Given the description of an element on the screen output the (x, y) to click on. 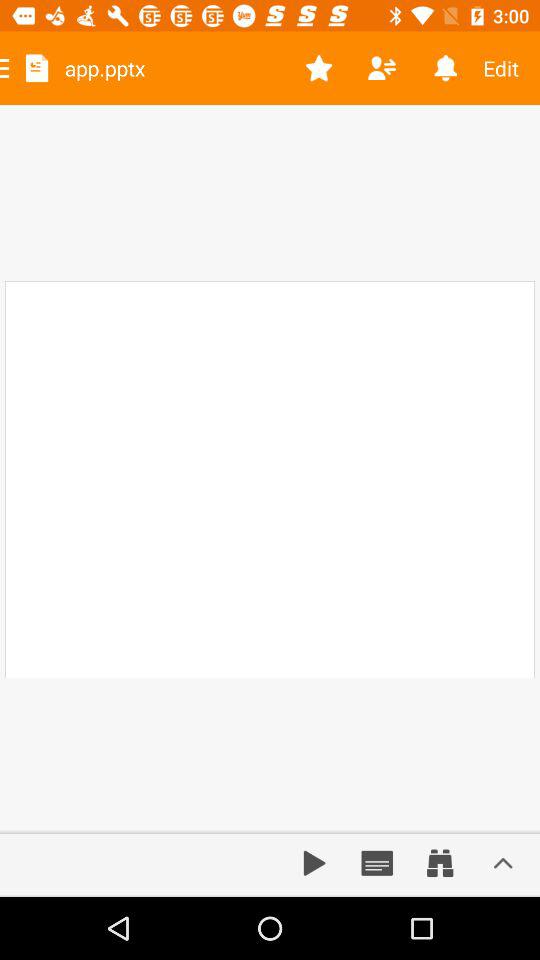
select the item to the left of the edit (444, 68)
